Given the description of an element on the screen output the (x, y) to click on. 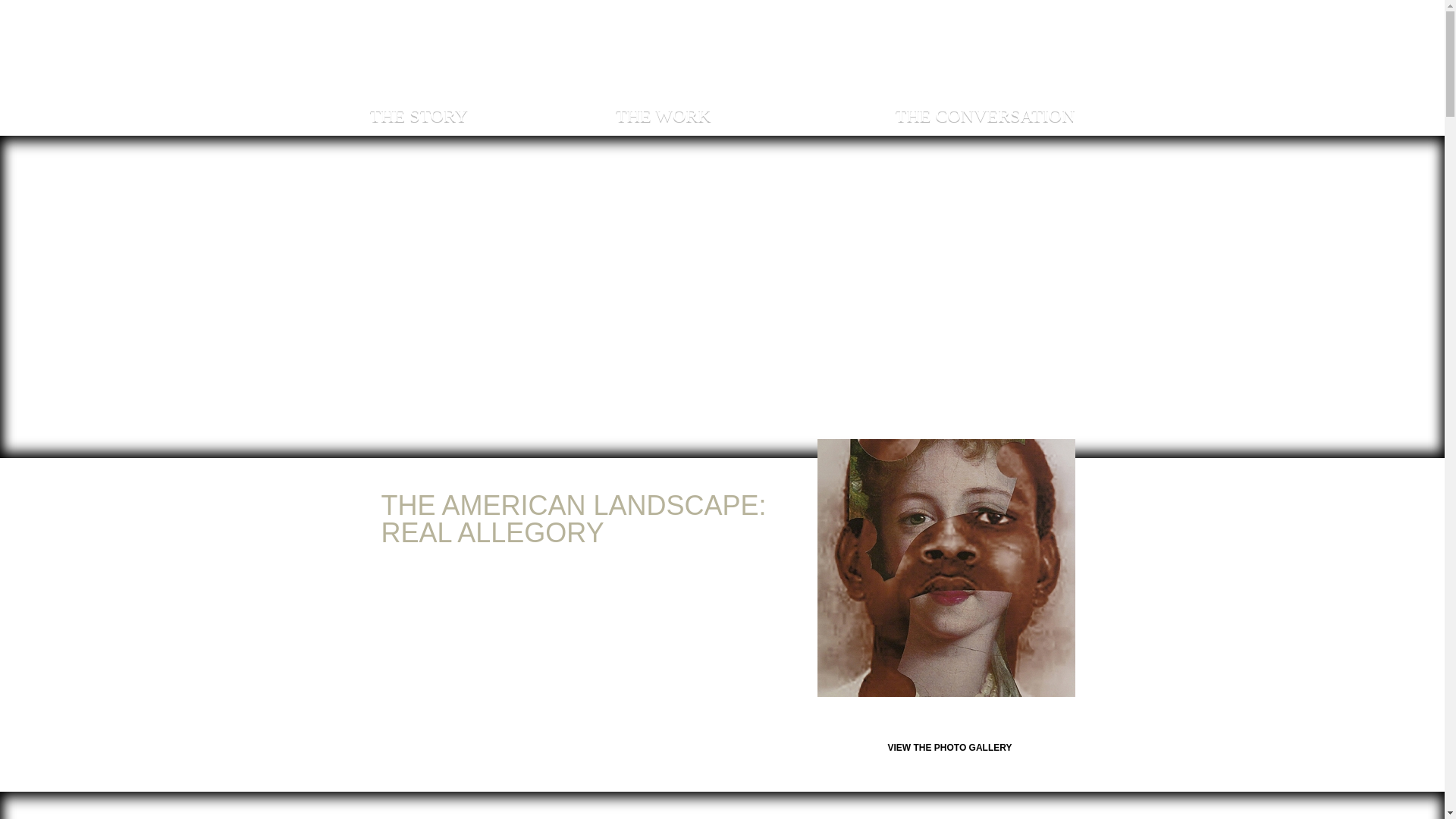
THE WORK (663, 115)
Devin 2021 (945, 567)
THE CONVERSATION (985, 115)
THE STORY (418, 115)
Home (721, 46)
